Given the description of an element on the screen output the (x, y) to click on. 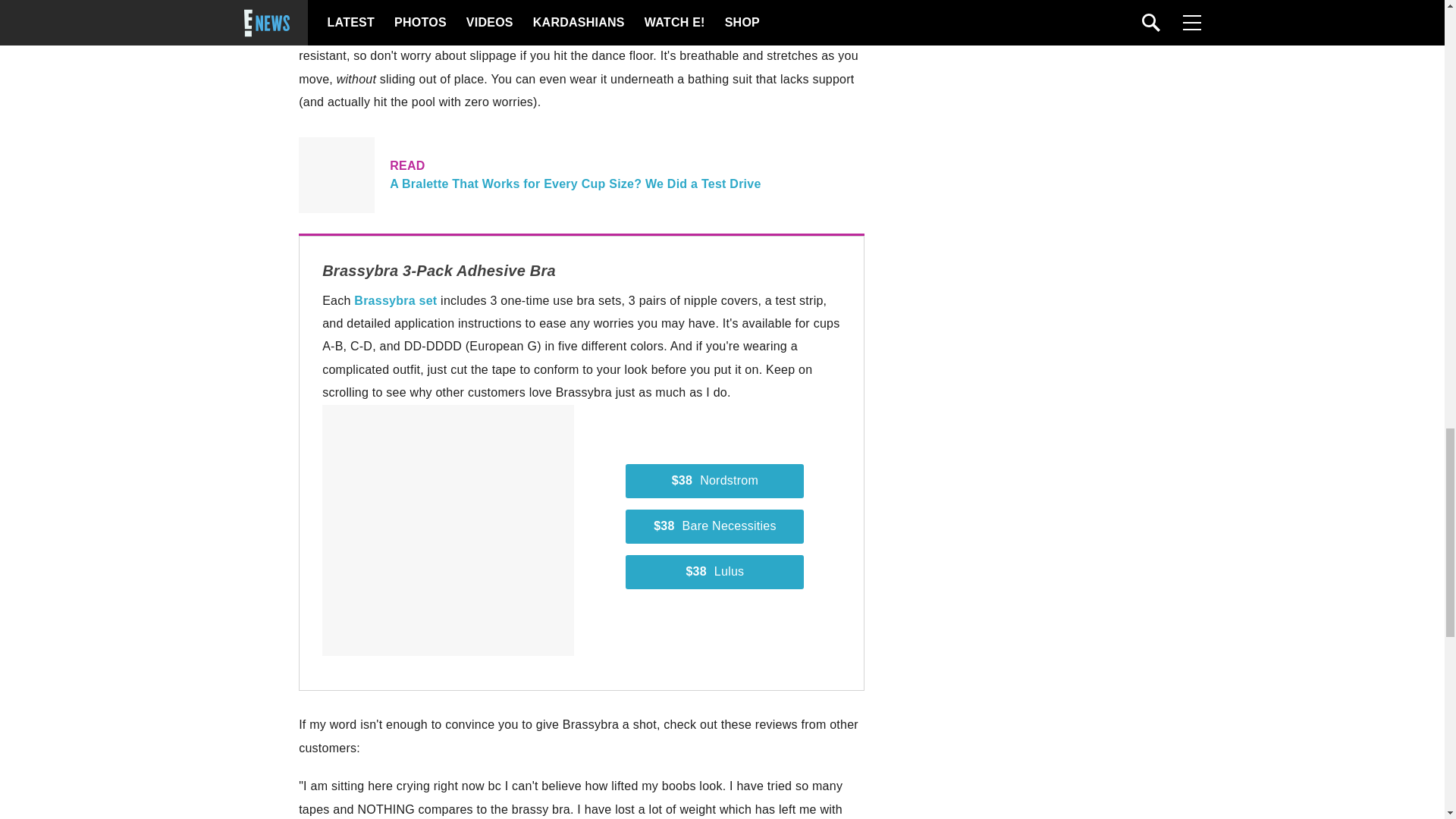
Brassybra (328, 10)
Brassybra set (394, 300)
